Given the description of an element on the screen output the (x, y) to click on. 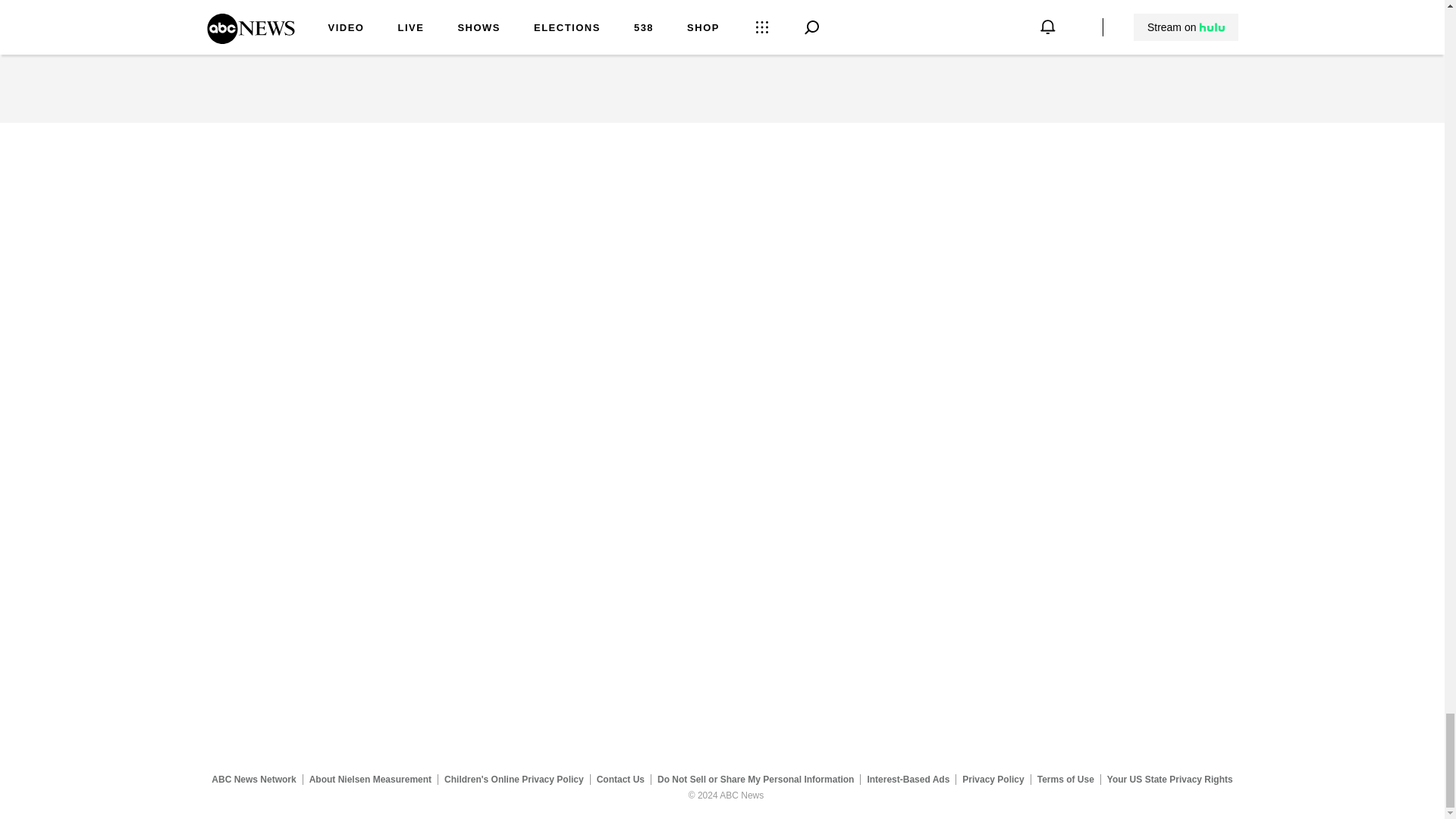
ABC News Network (253, 778)
Children's Online Privacy Policy (514, 778)
About Nielsen Measurement (370, 778)
